Given the description of an element on the screen output the (x, y) to click on. 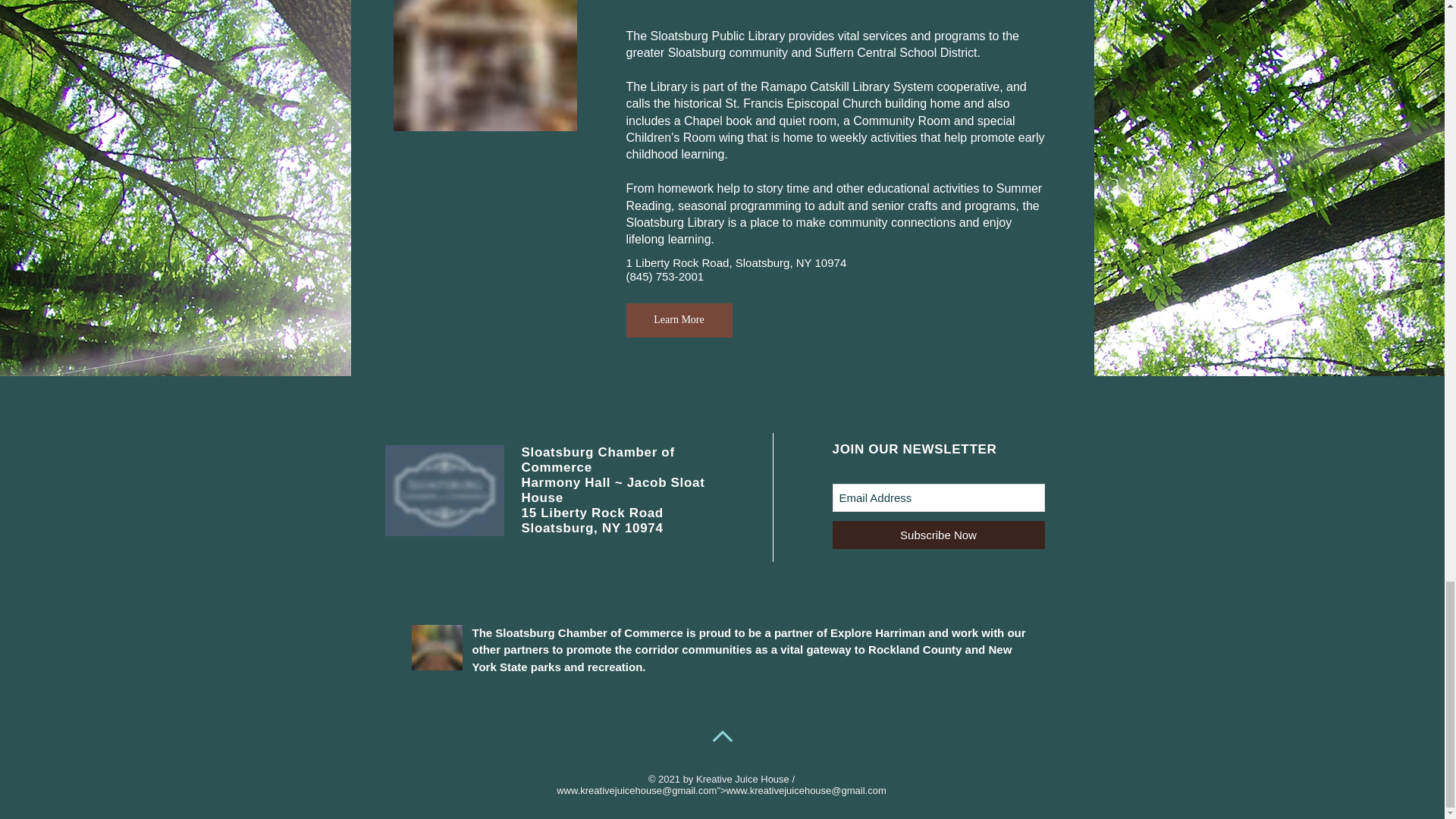
Learn More (679, 320)
